Given the description of an element on the screen output the (x, y) to click on. 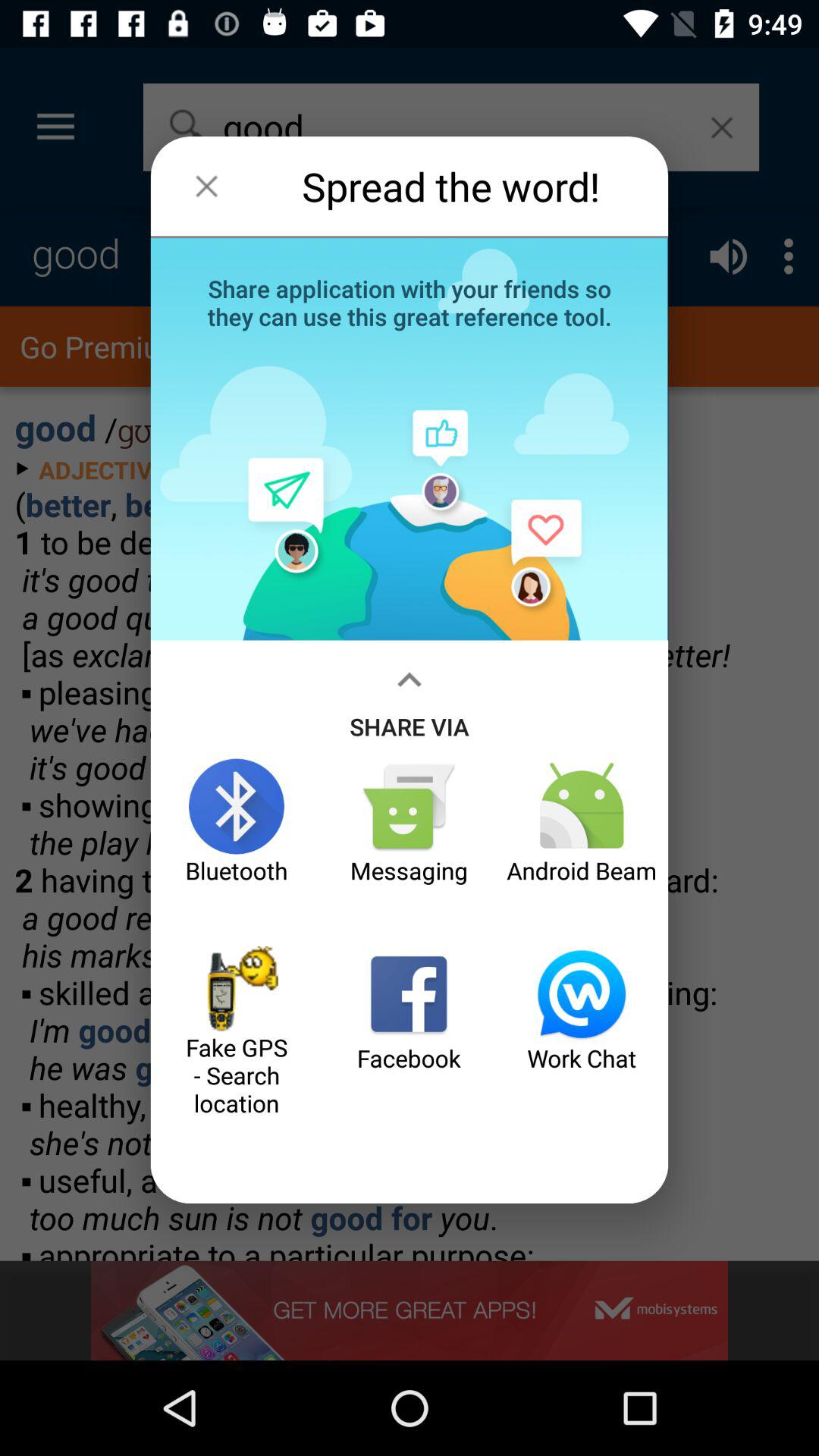
jump until share via (409, 699)
